Given the description of an element on the screen output the (x, y) to click on. 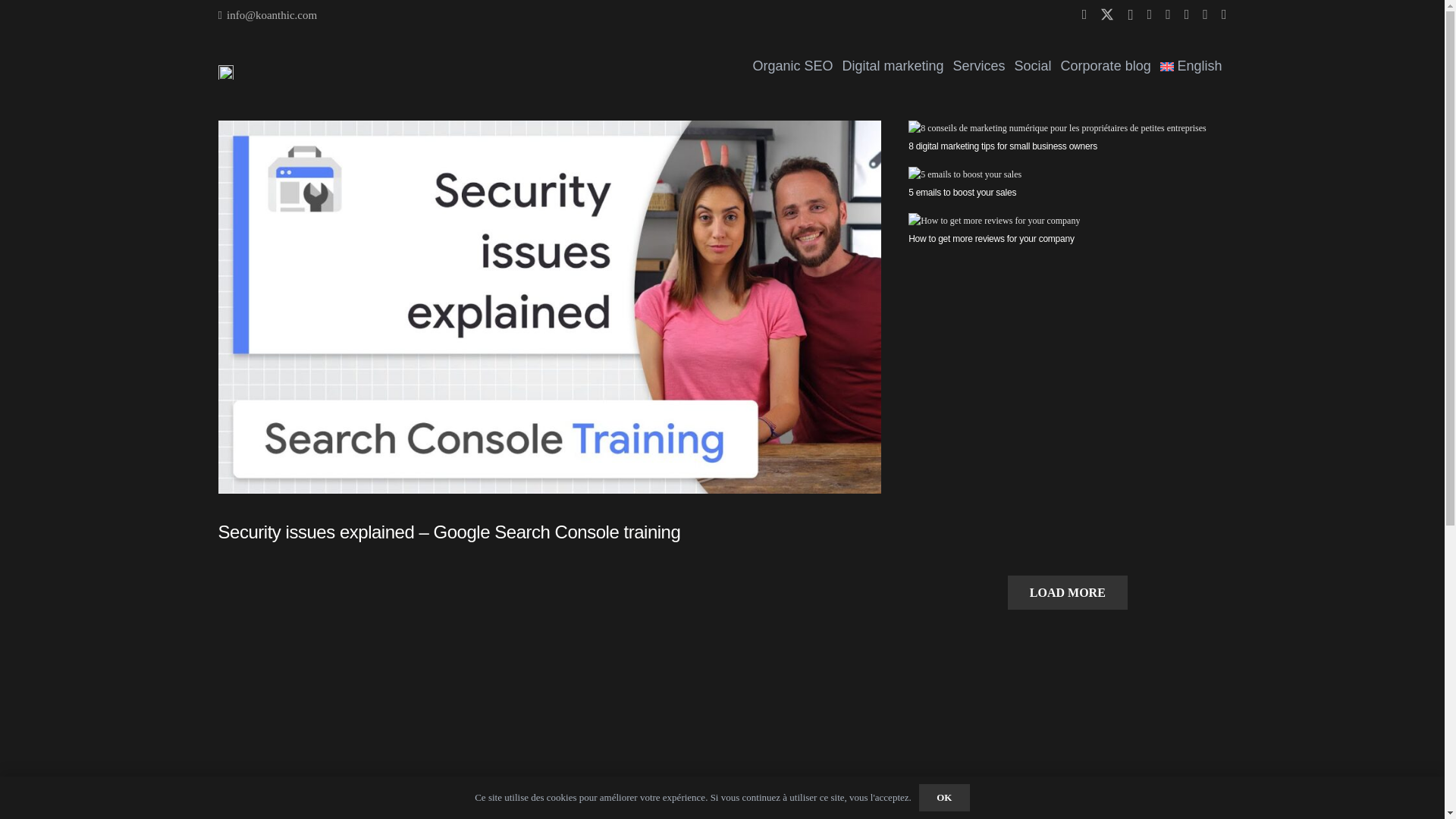
Twitter (1106, 14)
5 emails to boost your sales (962, 192)
8 digital marketing tips for small business owners (1002, 145)
How to get more reviews for your company (991, 238)
Digital marketing (892, 66)
English (1191, 66)
Security issues explained - Google Search Console Training (438, 681)
Organic SEO (792, 66)
Corporate blog (1106, 66)
English (1191, 66)
